Given the description of an element on the screen output the (x, y) to click on. 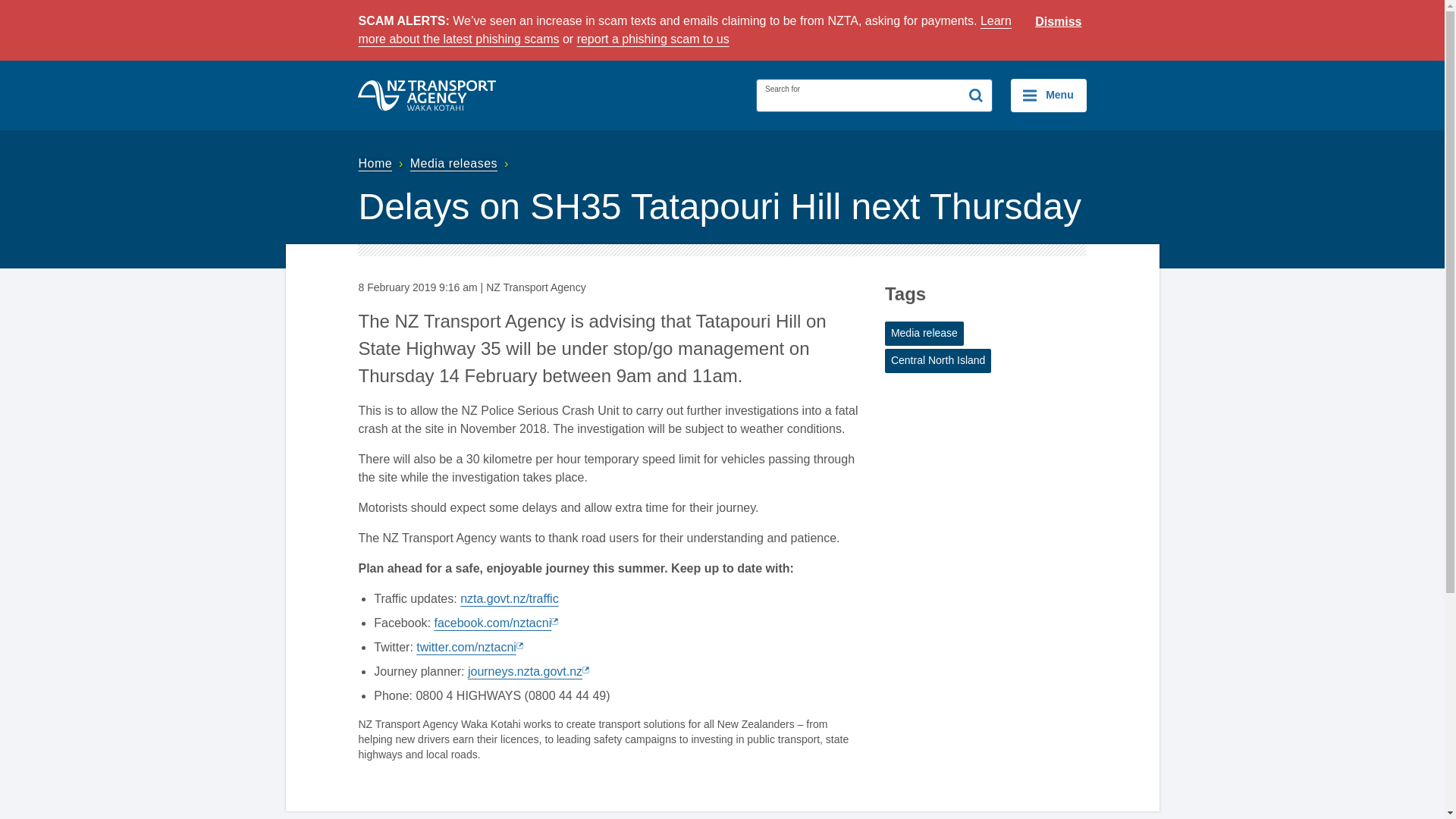
report a phishing scam to us (652, 38)
View all posts tagged 'Central North Island' (938, 360)
Media releases (461, 163)
View all posts tagged 'Media release' (924, 333)
Learn more about the latest phishing scams (684, 29)
Menu (1048, 95)
Dismiss (1058, 21)
Home (382, 163)
NZ Transport Agency Waka Kotahi (427, 95)
